Given the description of an element on the screen output the (x, y) to click on. 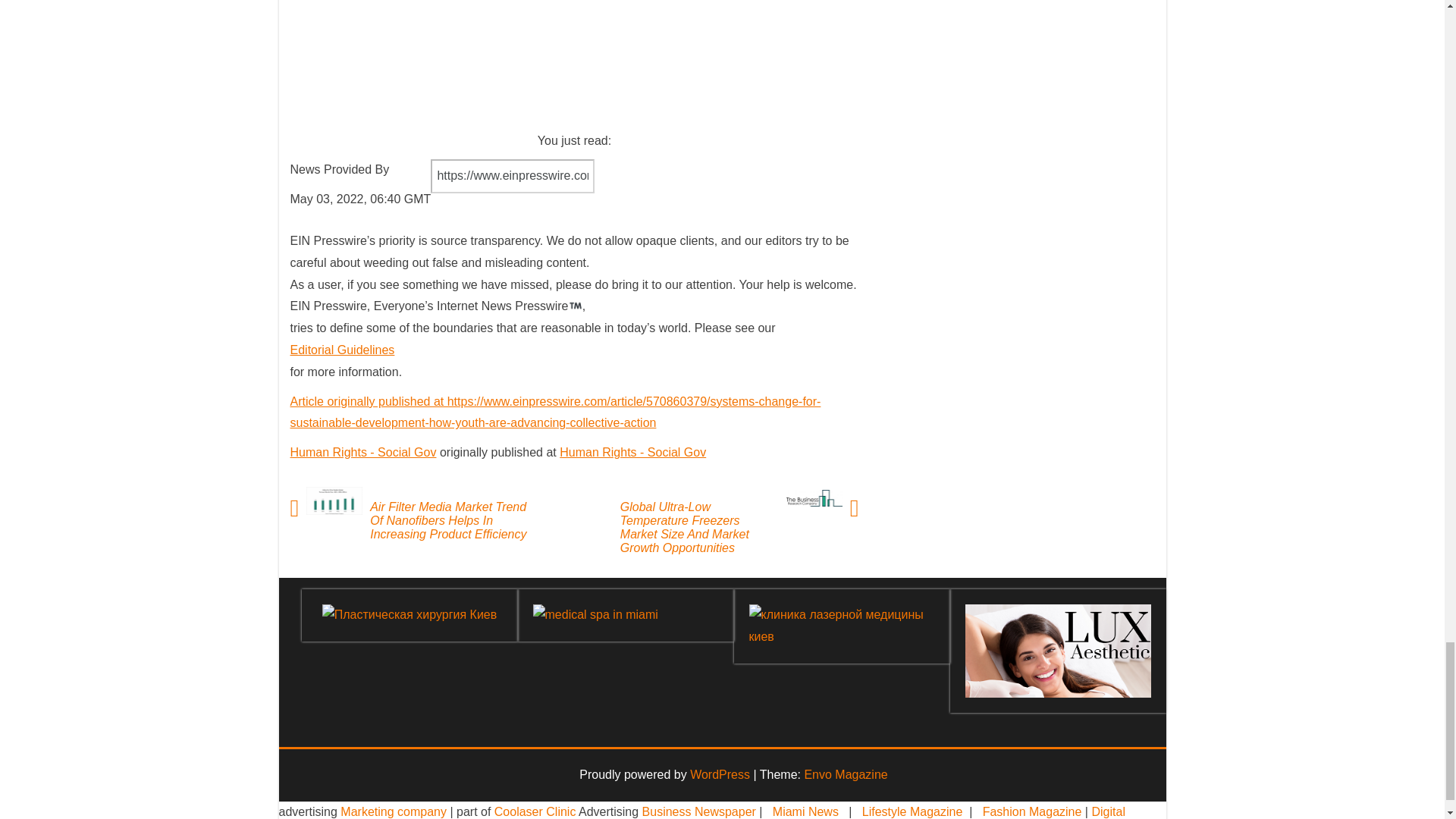
Human Rights - Social Gov (632, 451)
Editorial Guidelines (341, 349)
Human Rights - Social Gov (362, 451)
